Given the description of an element on the screen output the (x, y) to click on. 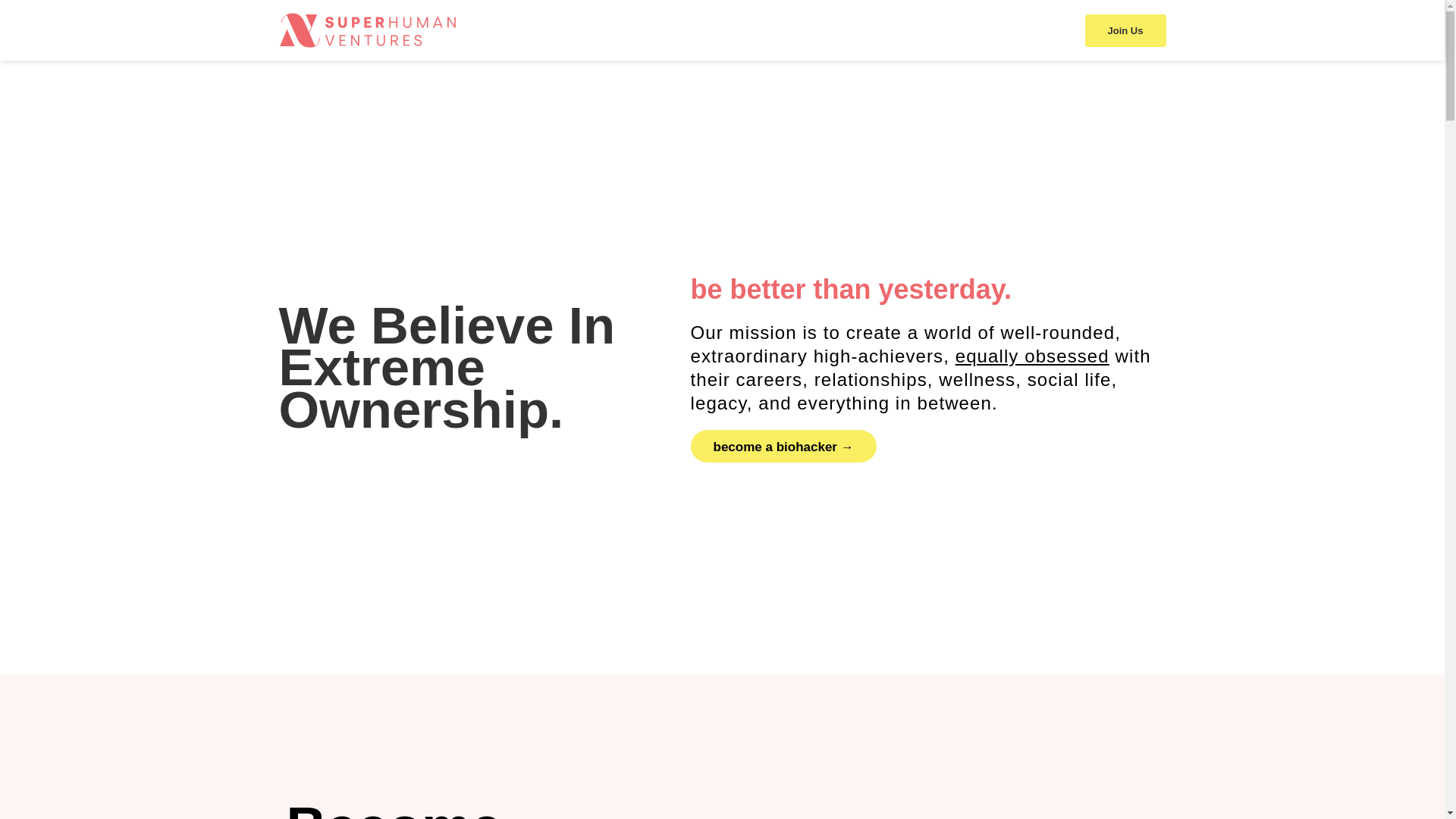
Join Us (1125, 29)
